Given the description of an element on the screen output the (x, y) to click on. 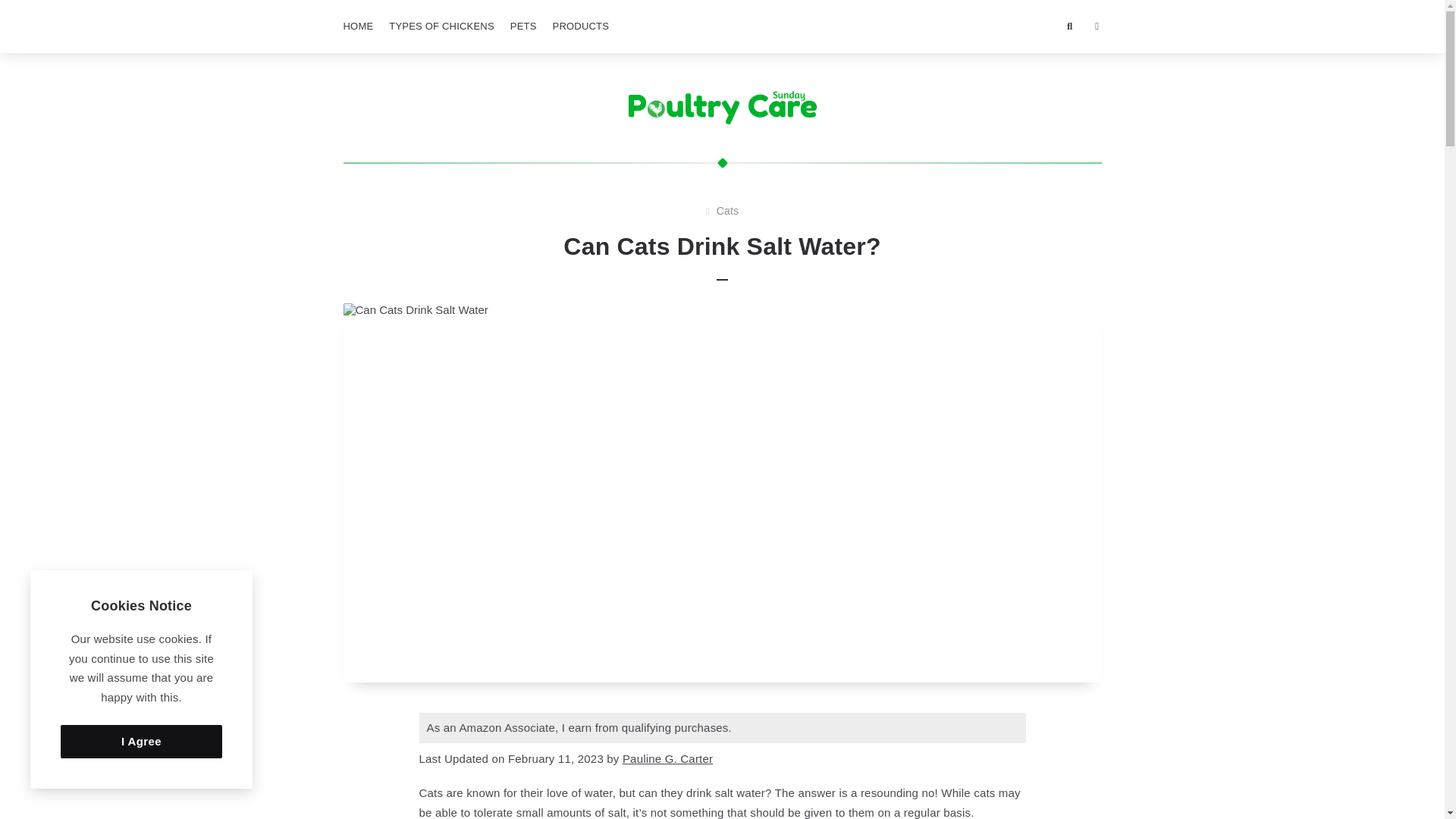
Pauline G. Carter (668, 758)
HOME (357, 26)
Cats (727, 211)
PRODUCTS (580, 26)
PETS (523, 26)
TYPES OF CHICKENS (441, 26)
